Given the description of an element on the screen output the (x, y) to click on. 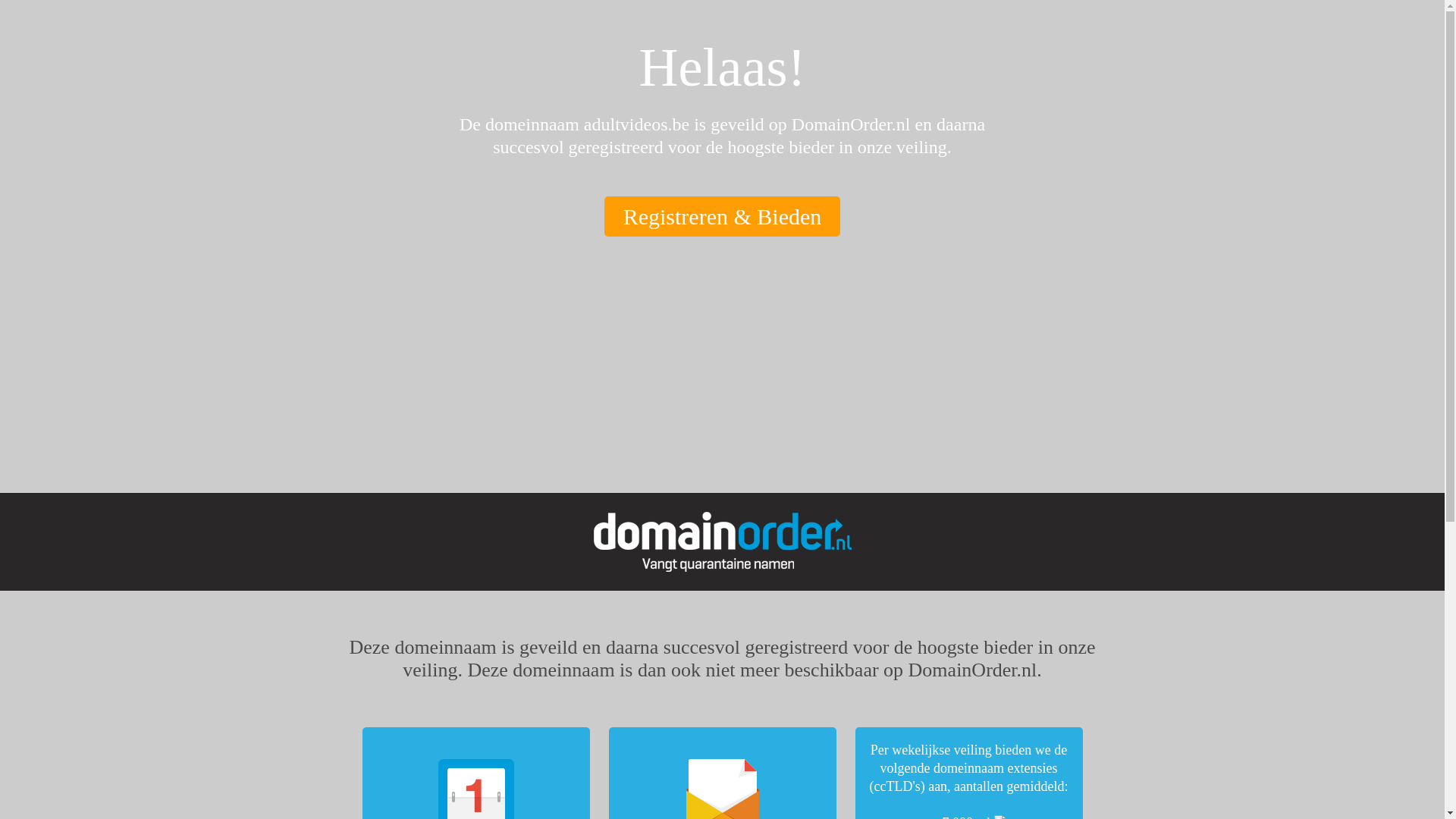
Registreren & Bieden Element type: text (722, 216)
